Given the description of an element on the screen output the (x, y) to click on. 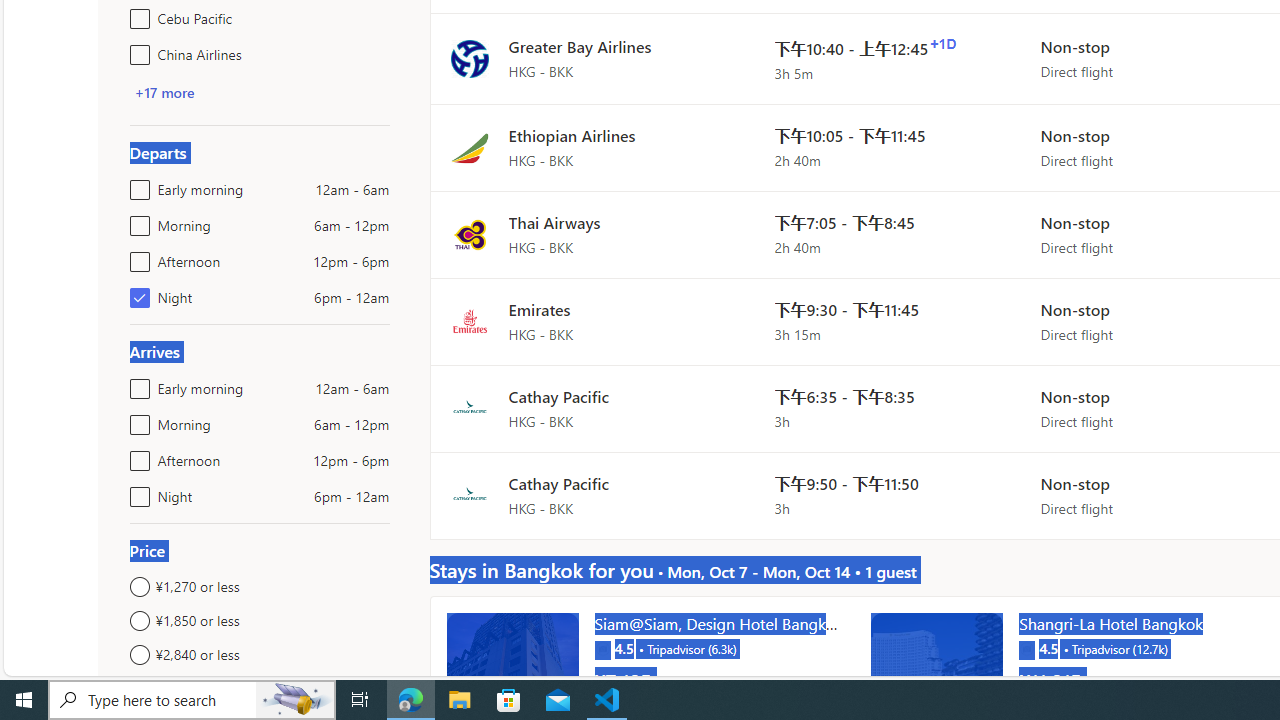
Afternoon12pm - 6pm (136, 456)
China Airlines (136, 50)
Tripadvisor (1026, 648)
Night6pm - 12am (136, 492)
+17 more (164, 92)
Early morning12am - 6am (136, 384)
Flight logo (469, 494)
Morning6am - 12pm (136, 420)
Cebu Pacific (136, 14)
Any price (259, 688)
